Given the description of an element on the screen output the (x, y) to click on. 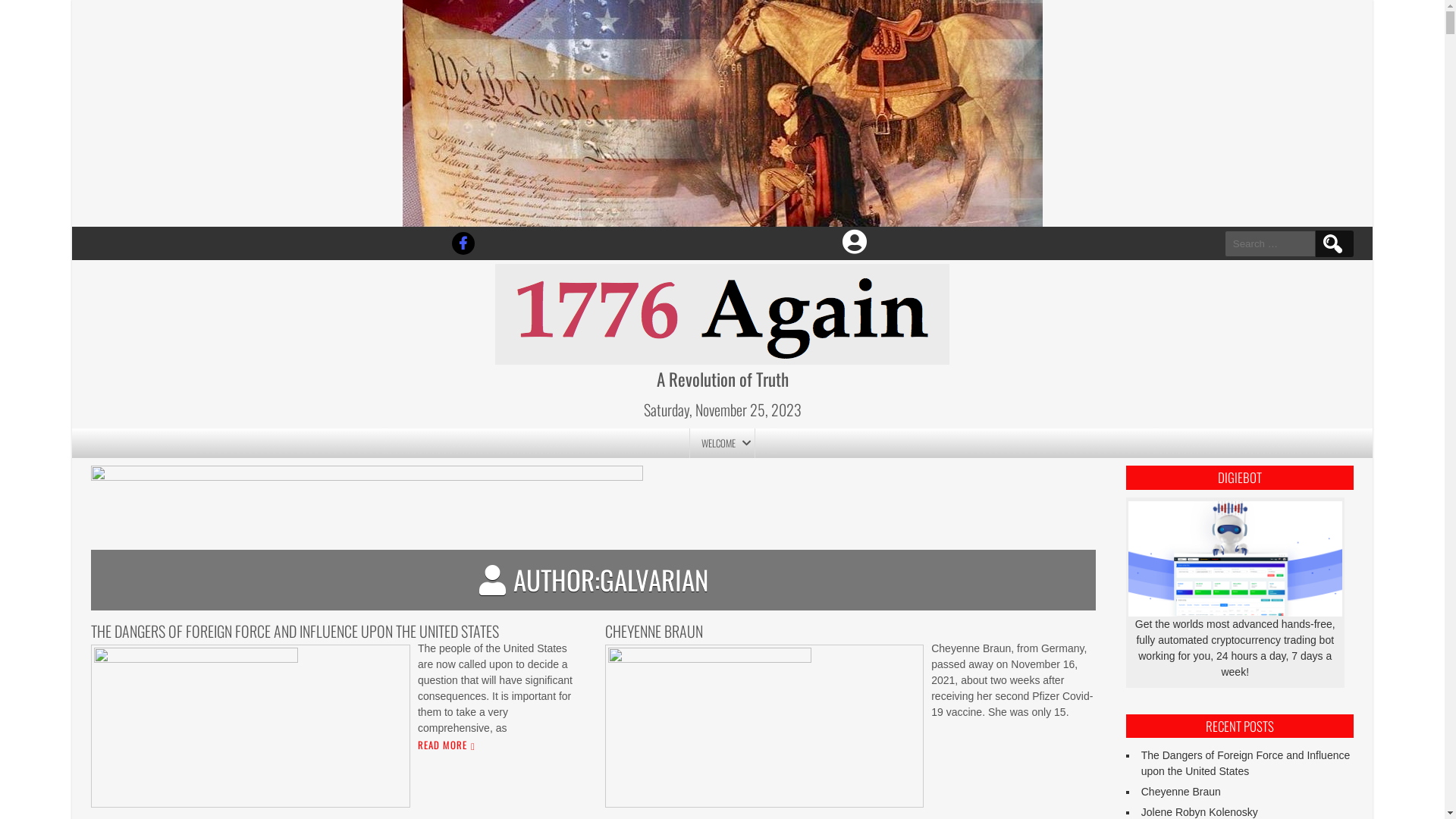
Search Element type: text (1332, 243)
WELCOME Element type: text (722, 443)
READ MORE Element type: text (443, 744)
Jolene Robyn Kolenosky Element type: text (1199, 812)
Cheyenne Braun Element type: text (1180, 791)
Digiebot Element type: hover (1235, 557)
